Given the description of an element on the screen output the (x, y) to click on. 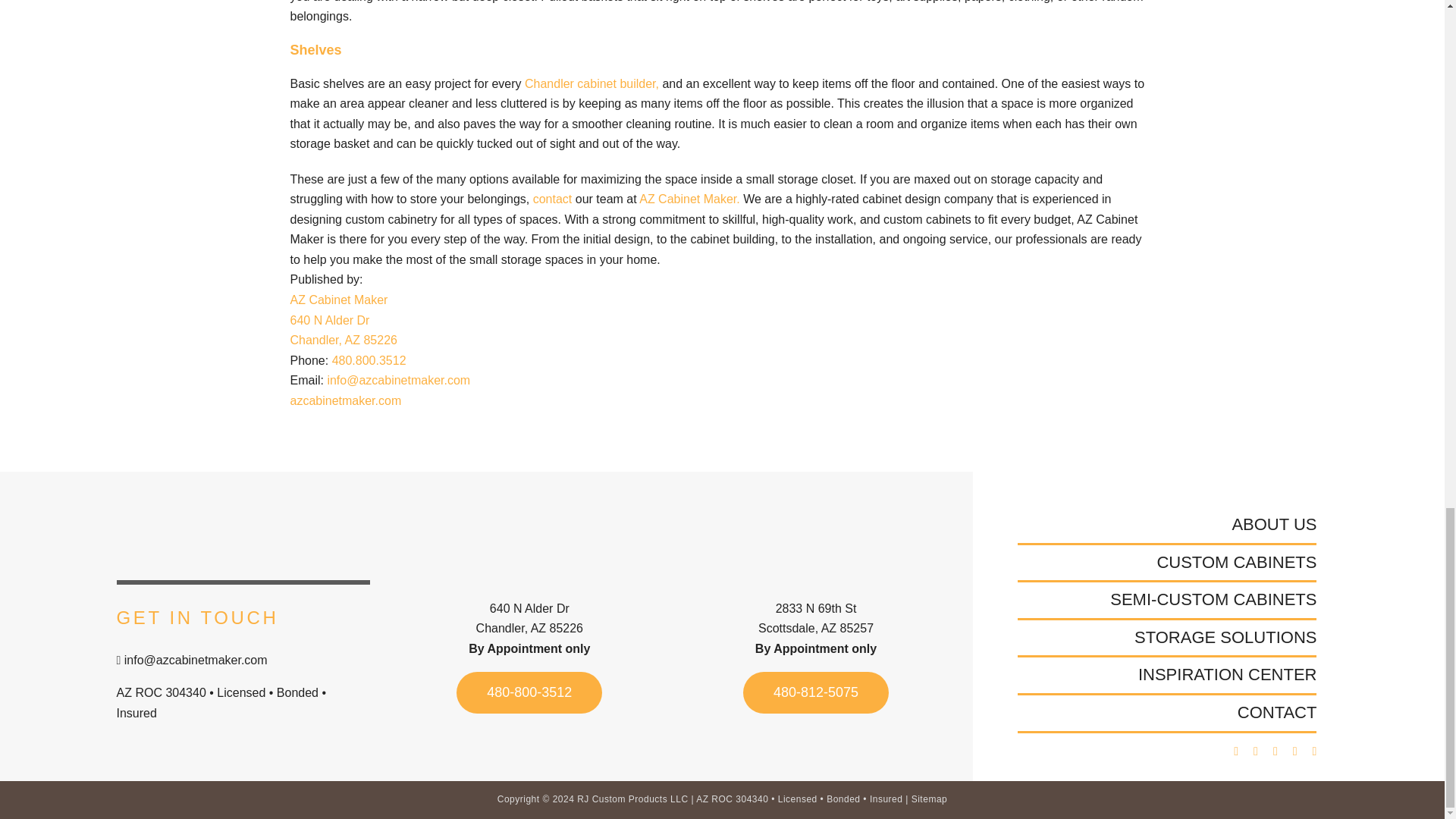
az-cabinet-maker-logo-400w-new (342, 330)
contact (242, 537)
AZ Cabinet Maker (552, 198)
C (338, 299)
S (445, 544)
AZ Cabinet Maker. (731, 544)
Chandler cabinet builder, (689, 198)
